Given the description of an element on the screen output the (x, y) to click on. 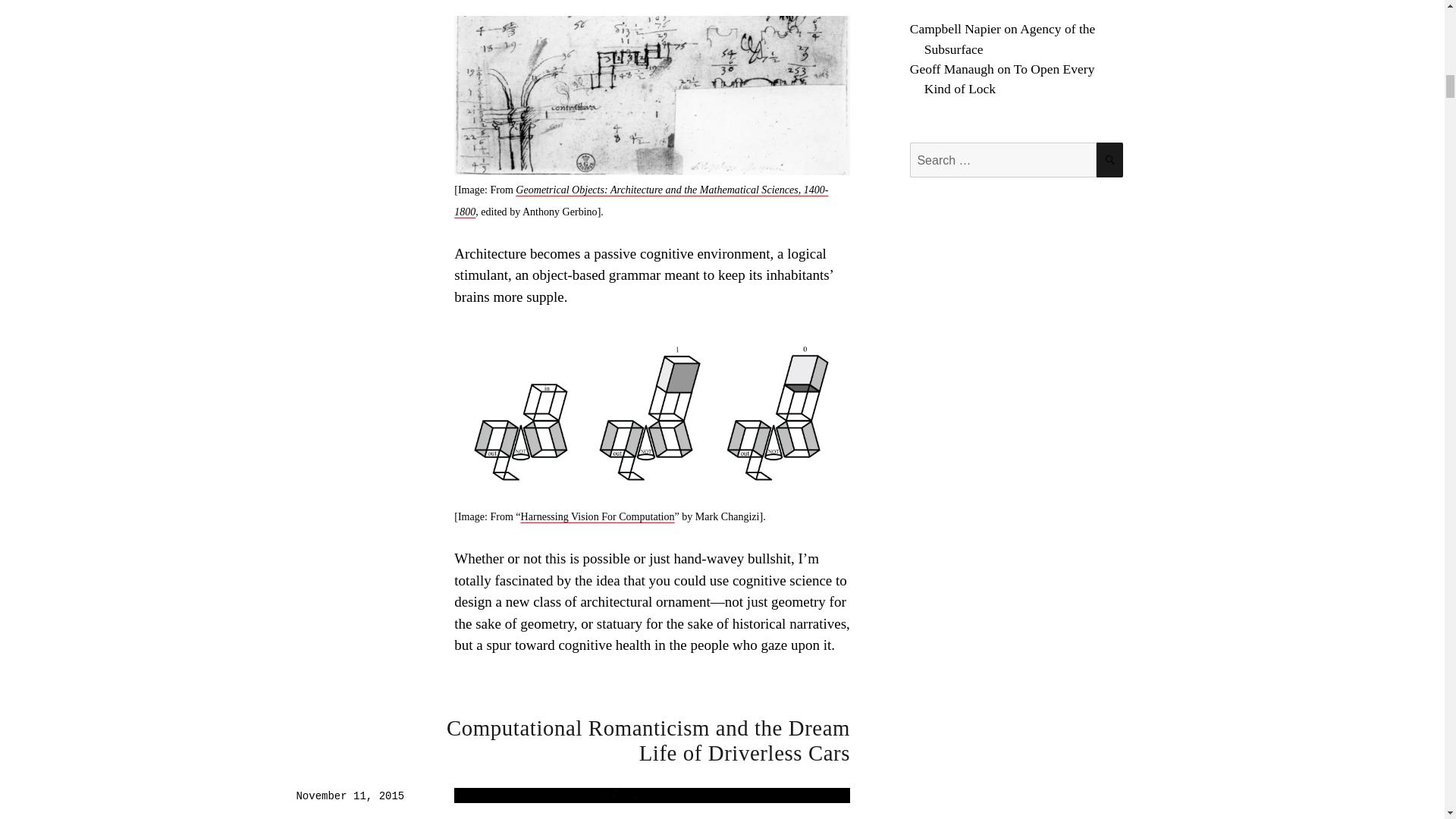
November 11, 2015 (349, 796)
Harnessing Vision For Computation (598, 516)
BLDGBLOG (320, 816)
